Given the description of an element on the screen output the (x, y) to click on. 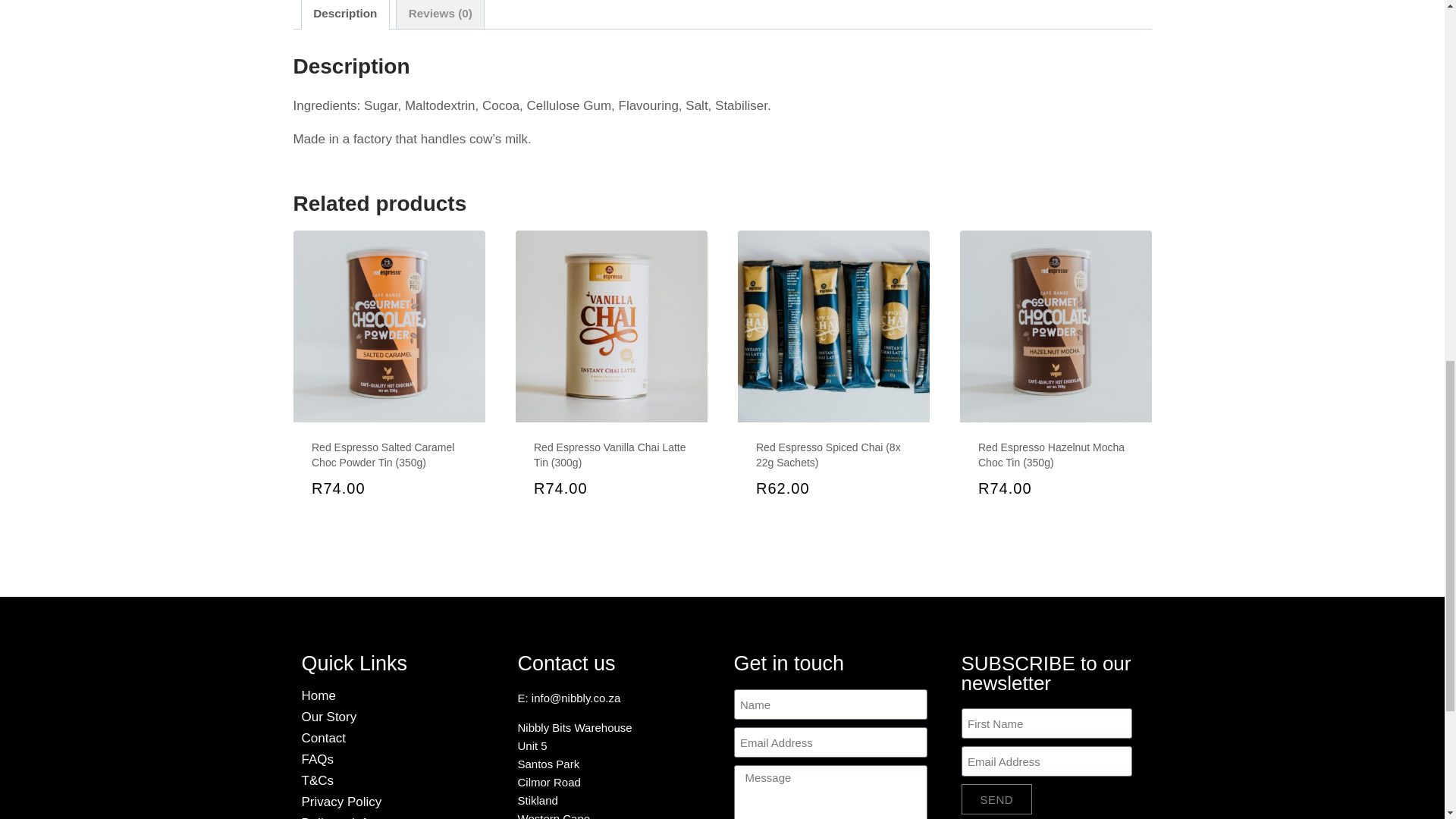
Page 1 (613, 754)
Privacy Policy (398, 801)
FAQs (398, 758)
Contact (398, 738)
Description (344, 14)
Delivery Info (398, 817)
Home (398, 695)
Our Story (398, 716)
